Given the description of an element on the screen output the (x, y) to click on. 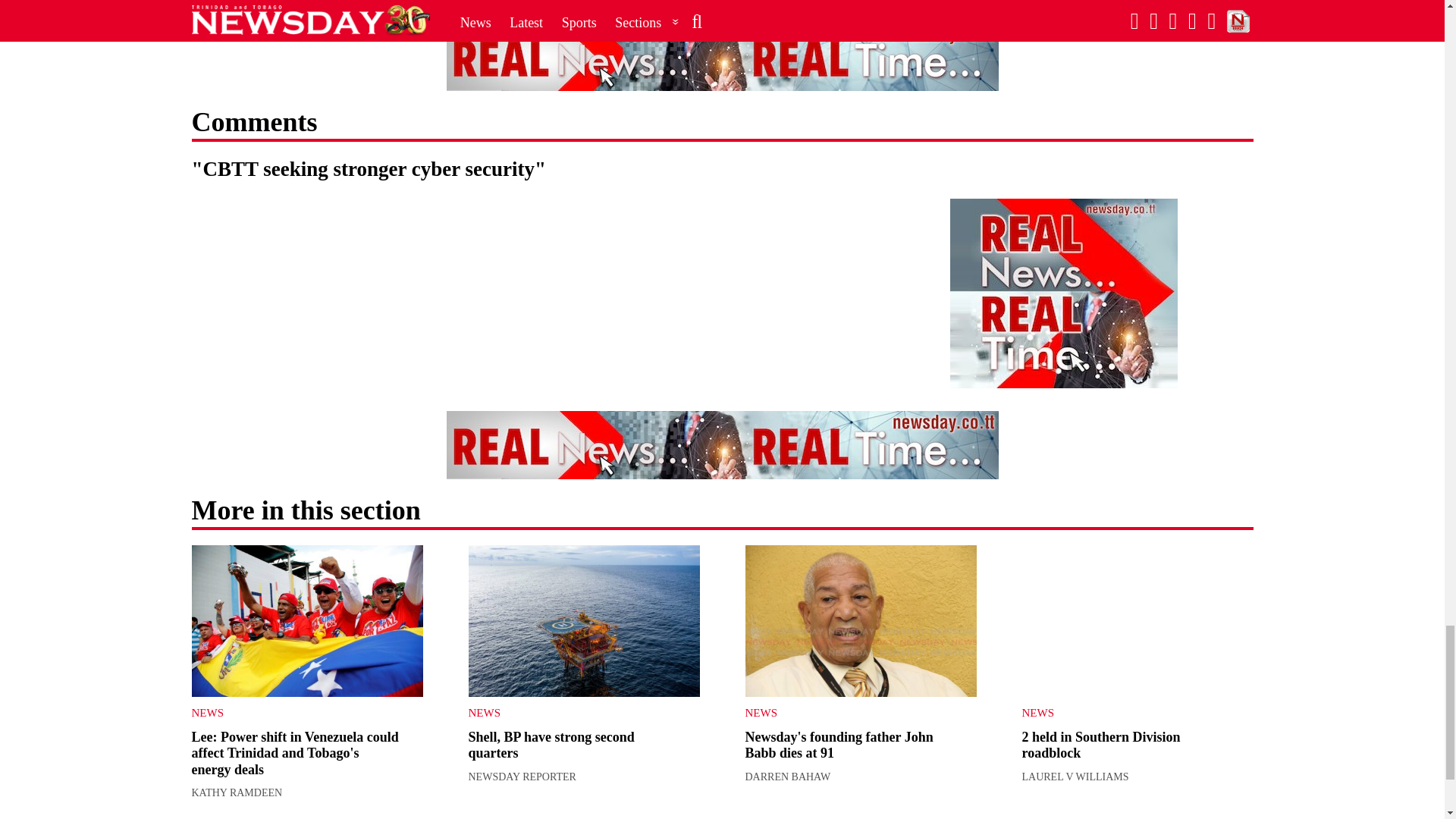
Shell, BP have strong second quarters (584, 620)
Newsday's founding father John Babb dies at 91 (859, 620)
NEWS (294, 712)
KATHY RAMDEEN (236, 792)
NEWS (572, 712)
2 held in Southern Division roadblock (1137, 620)
